Given the description of an element on the screen output the (x, y) to click on. 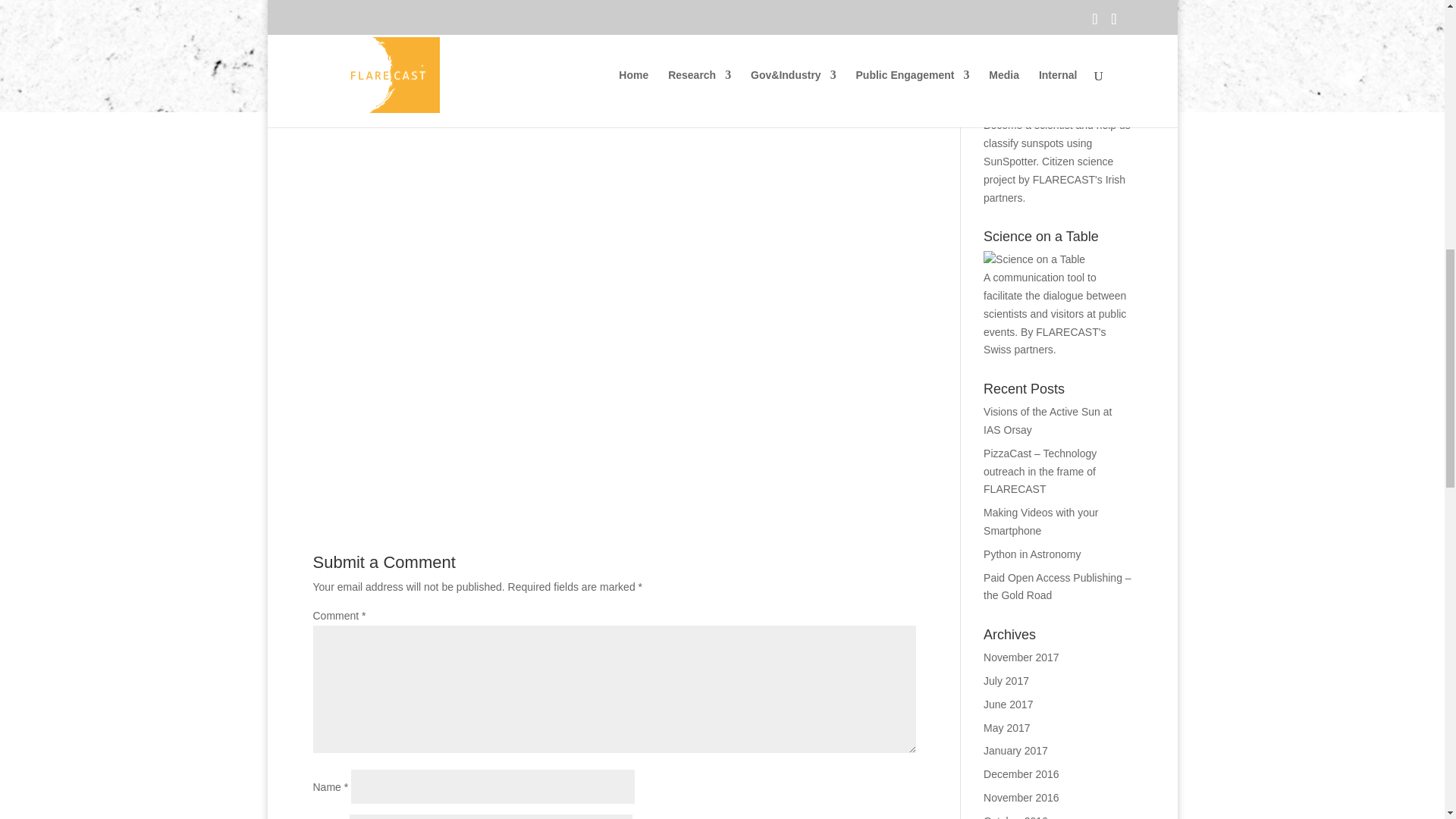
Helioviewer (582, 73)
Space Weather Gallery (811, 73)
Slideshare (581, 55)
GSFC SDO (501, 73)
